Given the description of an element on the screen output the (x, y) to click on. 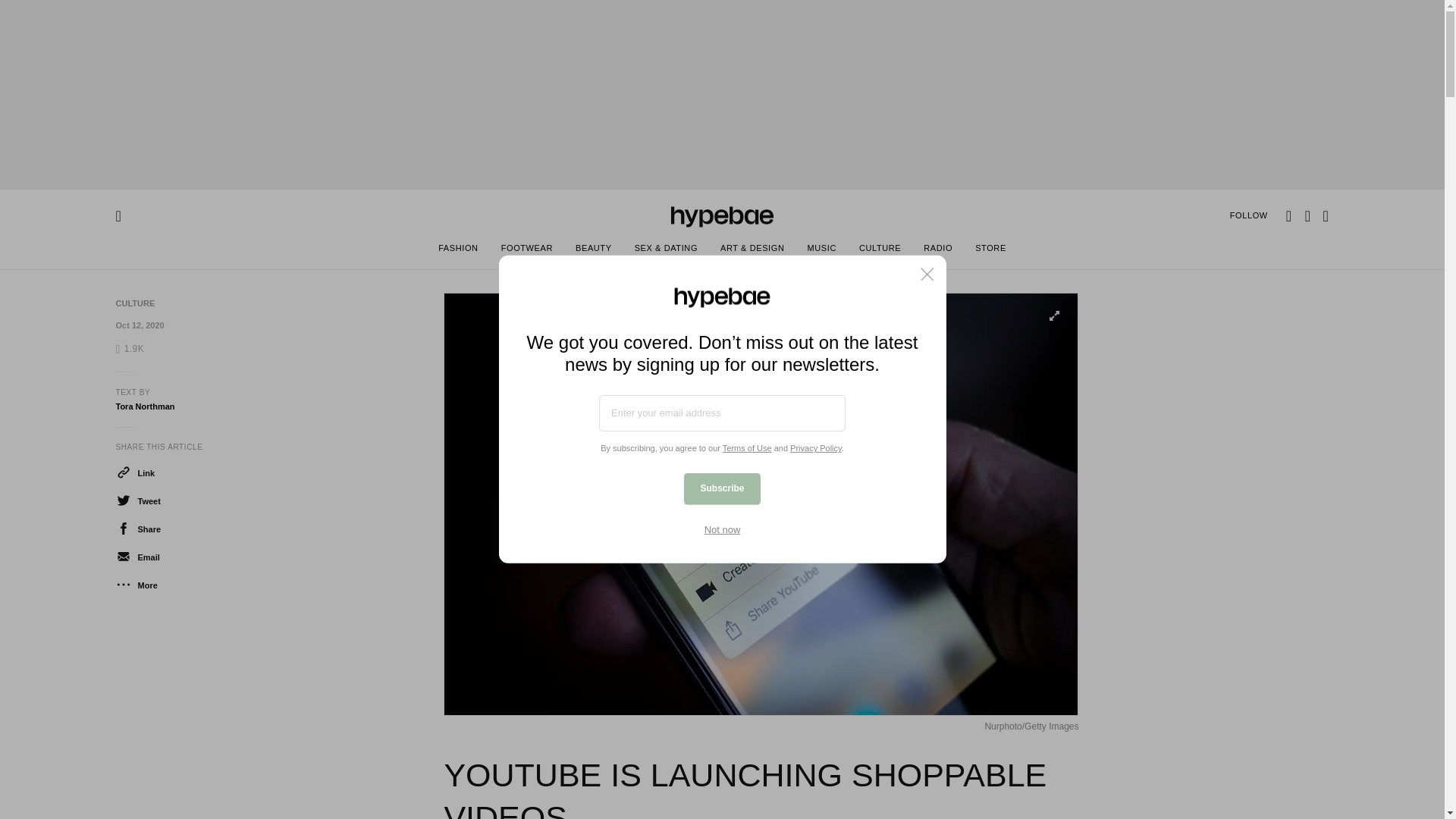
Tora Northman (144, 406)
MUSIC (820, 250)
STORE (990, 250)
Culture (134, 302)
CULTURE (879, 250)
CULTURE (134, 302)
BEAUTY (593, 250)
FOOTWEAR (526, 250)
RADIO (937, 250)
